Given the description of an element on the screen output the (x, y) to click on. 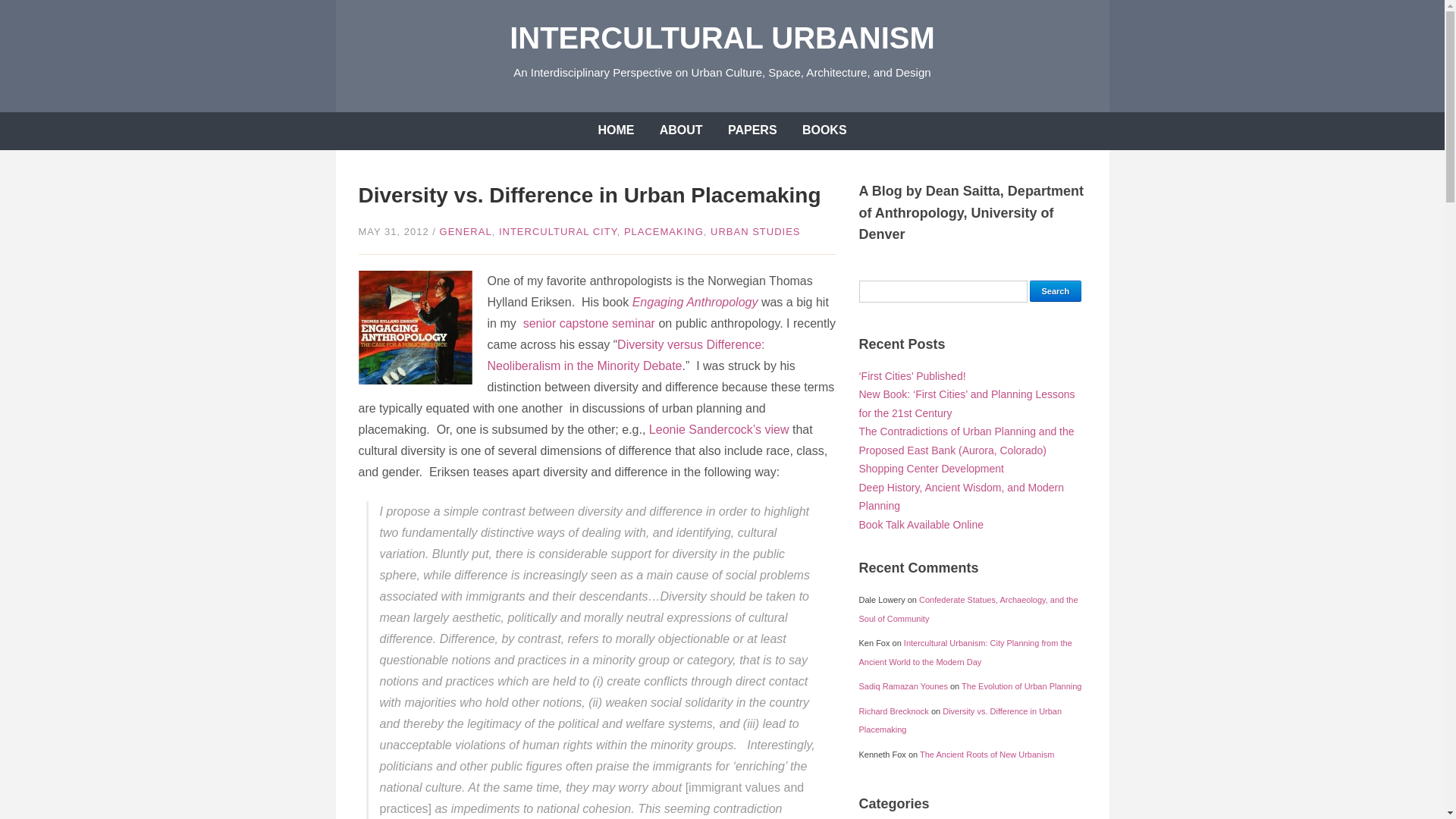
INTERCULTURAL CITY (558, 231)
URBAN STUDIES (754, 231)
HOME (615, 130)
Engaging Anthropology (694, 301)
Erik.EngagAnth (414, 327)
ABOUT (680, 130)
Deep History, Ancient Wisdom, and Modern Planning (961, 496)
Search (1055, 291)
Book Talk Available Online (920, 524)
PLACEMAKING (663, 231)
PAPERS (752, 130)
GENERAL (465, 231)
INTERCULTURAL URBANISM (721, 37)
senior capstone seminar (588, 323)
